Given the description of an element on the screen output the (x, y) to click on. 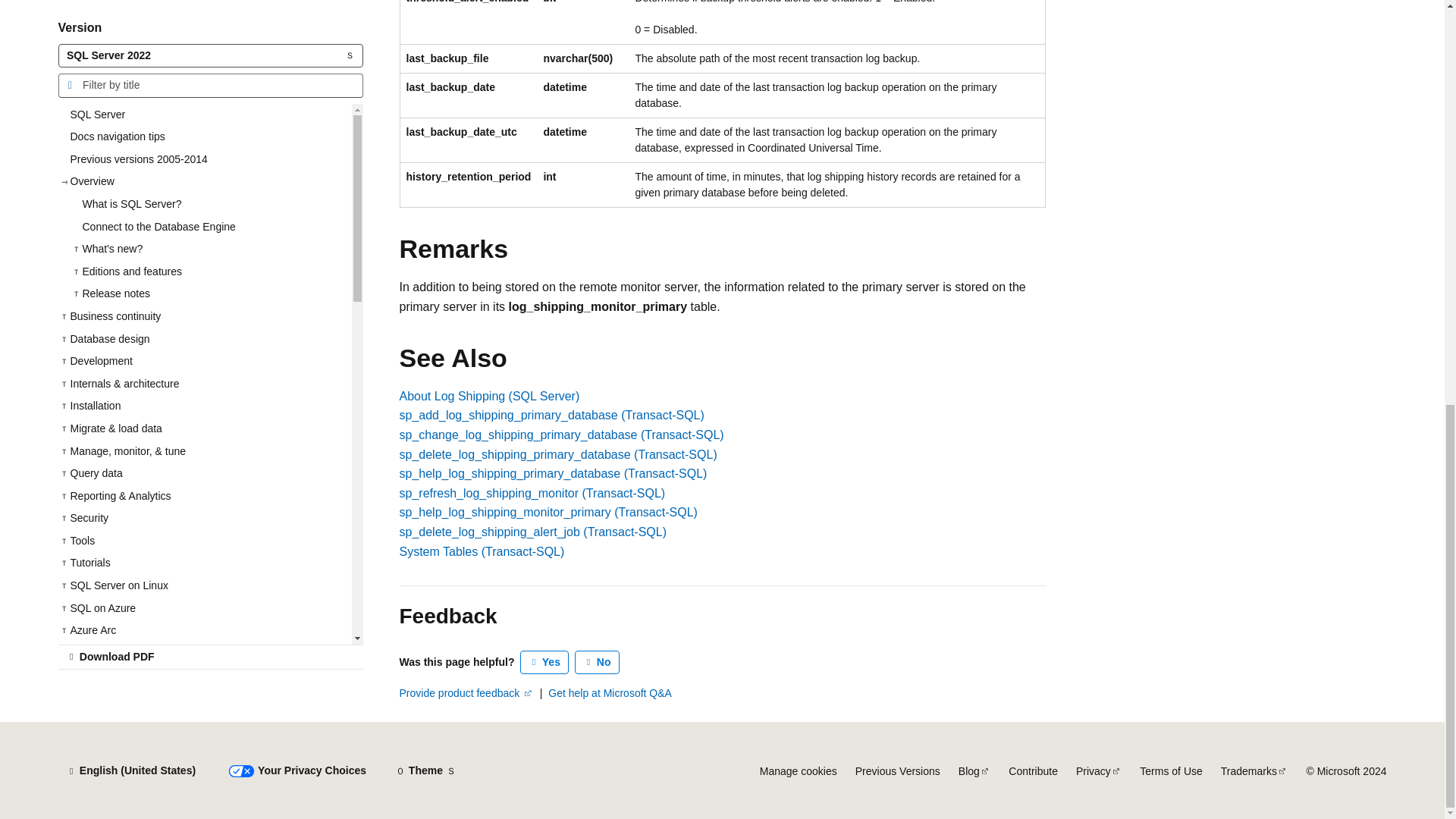
This article is not helpful (597, 662)
Theme (425, 770)
This article is helpful (544, 662)
